Given the description of an element on the screen output the (x, y) to click on. 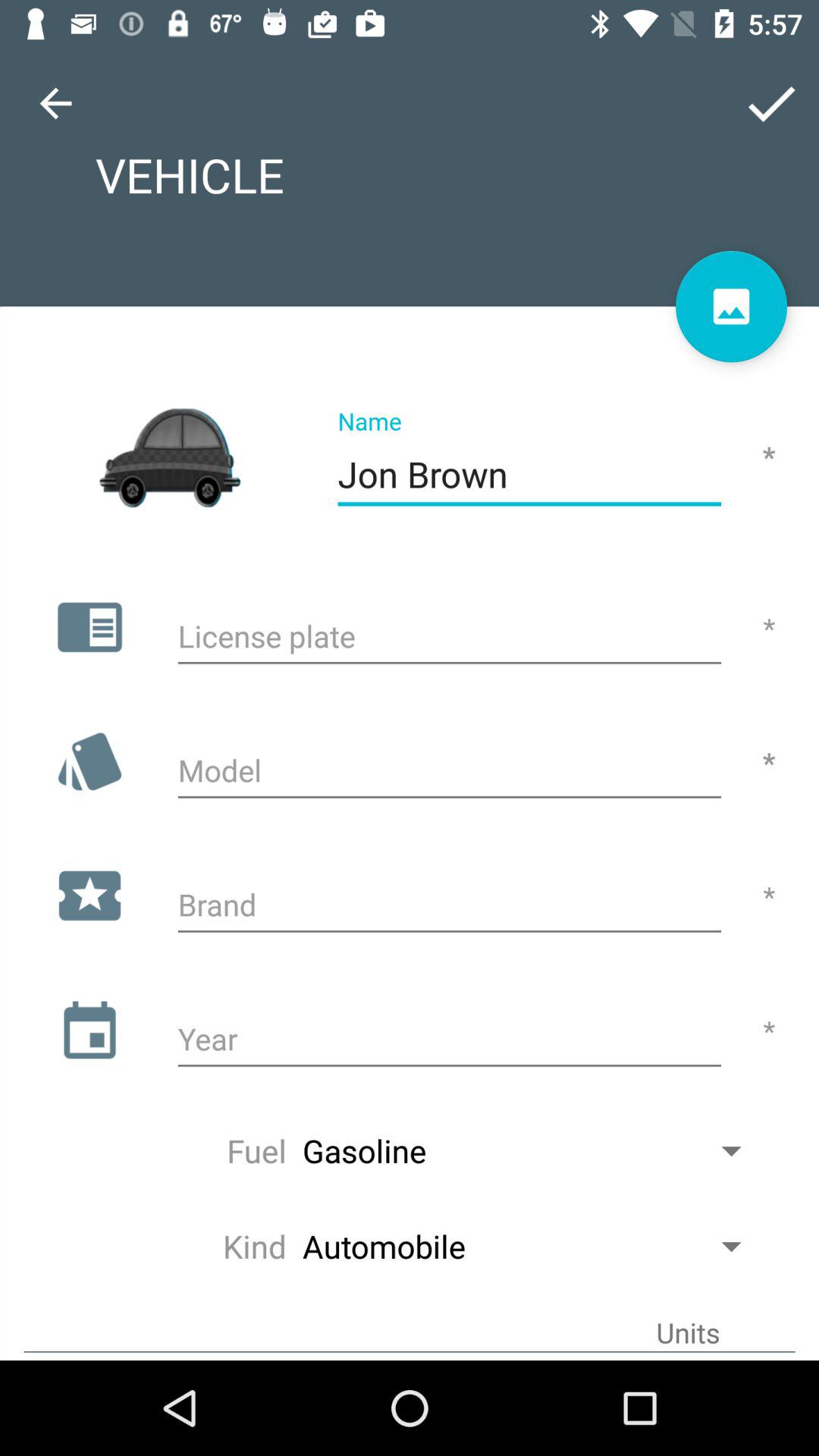
brand textbox (449, 907)
